Given the description of an element on the screen output the (x, y) to click on. 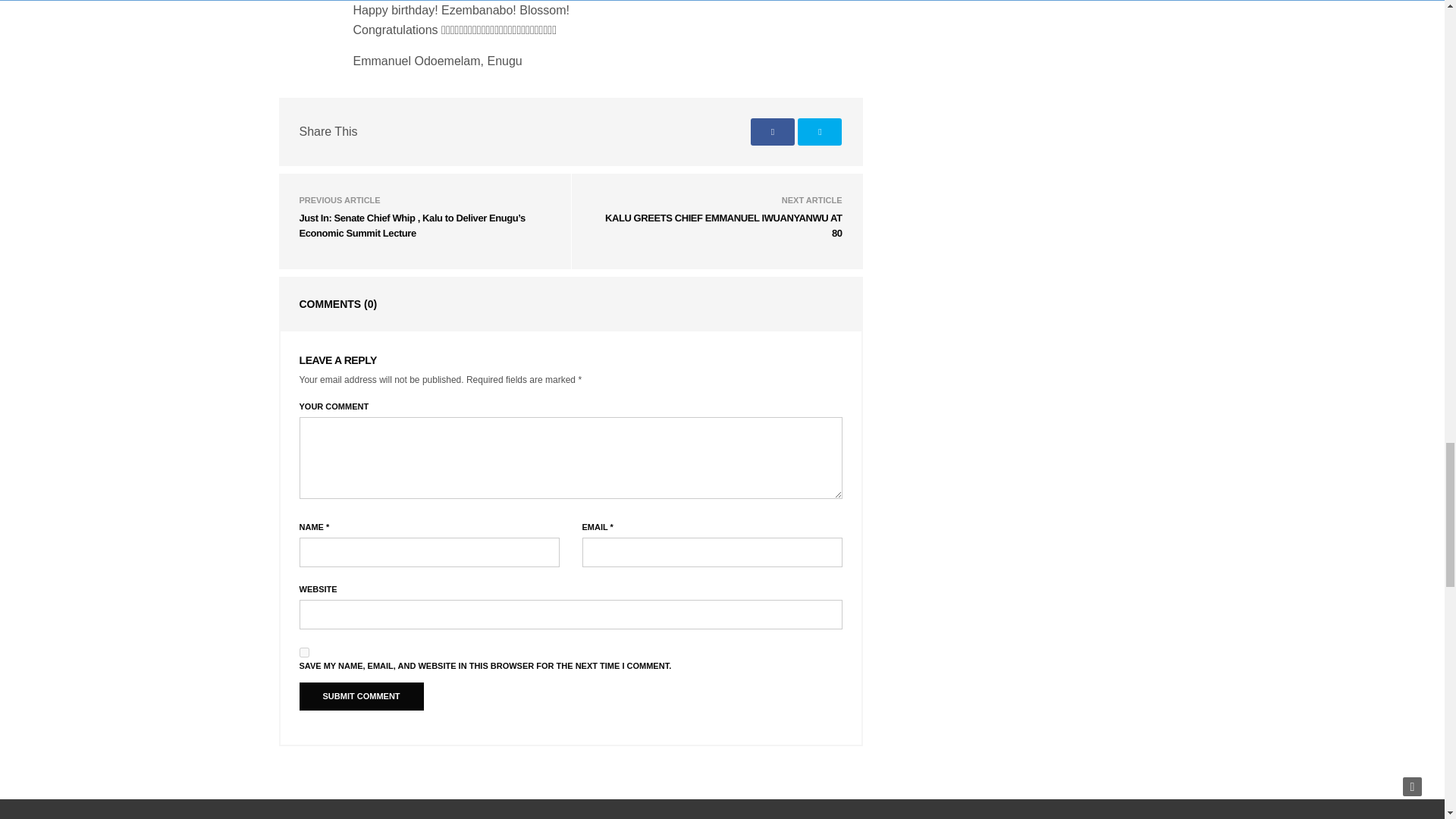
Submit Comment (360, 696)
KALU GREETS CHIEF EMMANUEL IWUANYANWU AT 80 (724, 225)
yes (303, 652)
